Given the description of an element on the screen output the (x, y) to click on. 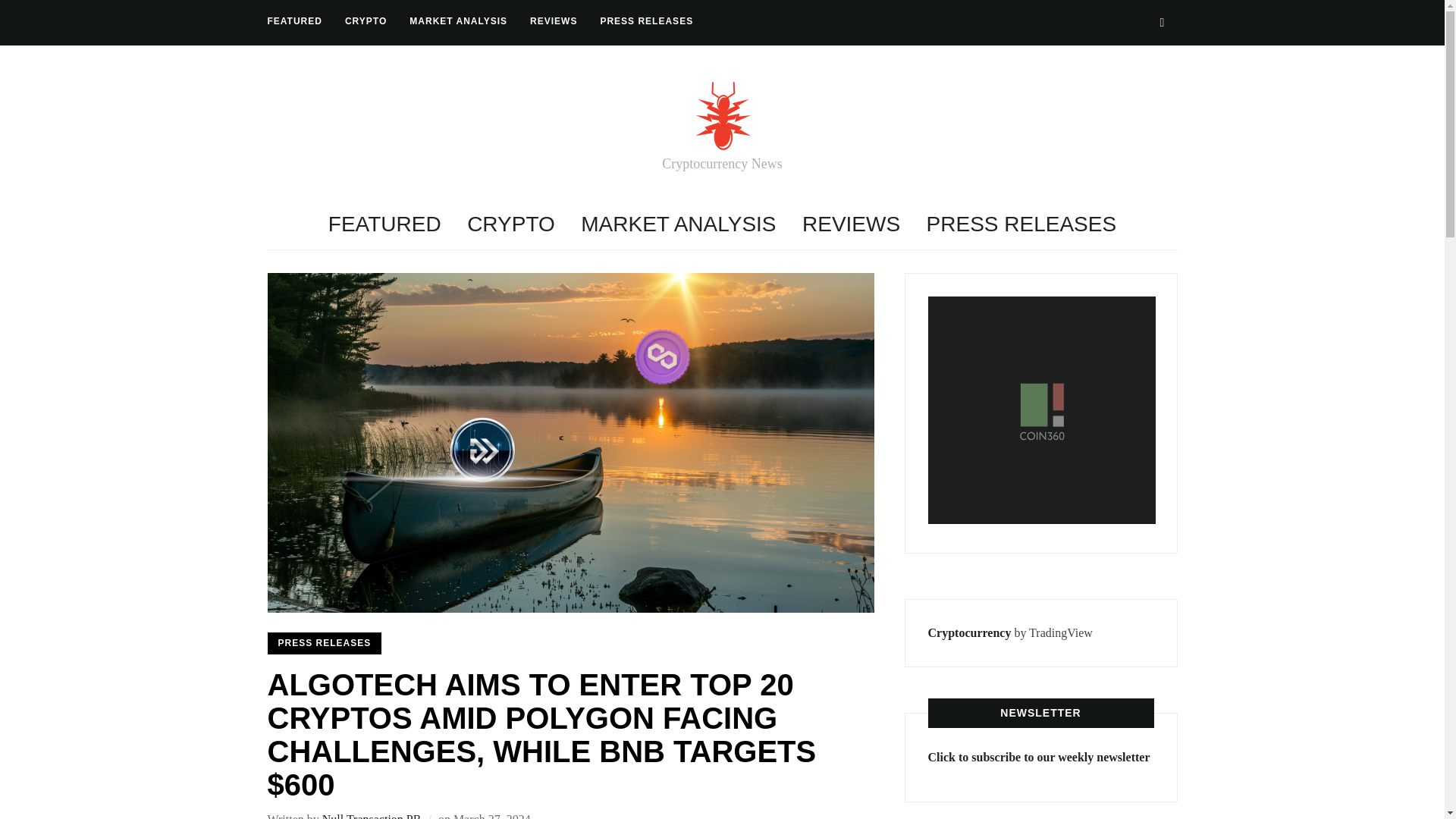
REVIEWS (850, 224)
FEATURED (293, 21)
Click to subscribe to our weekly newsletter (1039, 757)
Search (1161, 22)
Cryptocurrency (969, 632)
Null Transaction PR (371, 816)
PRESS RELEASES (646, 21)
FEATURED (385, 224)
MARKET ANALYSIS (678, 224)
MARKET ANALYSIS (457, 21)
